Given the description of an element on the screen output the (x, y) to click on. 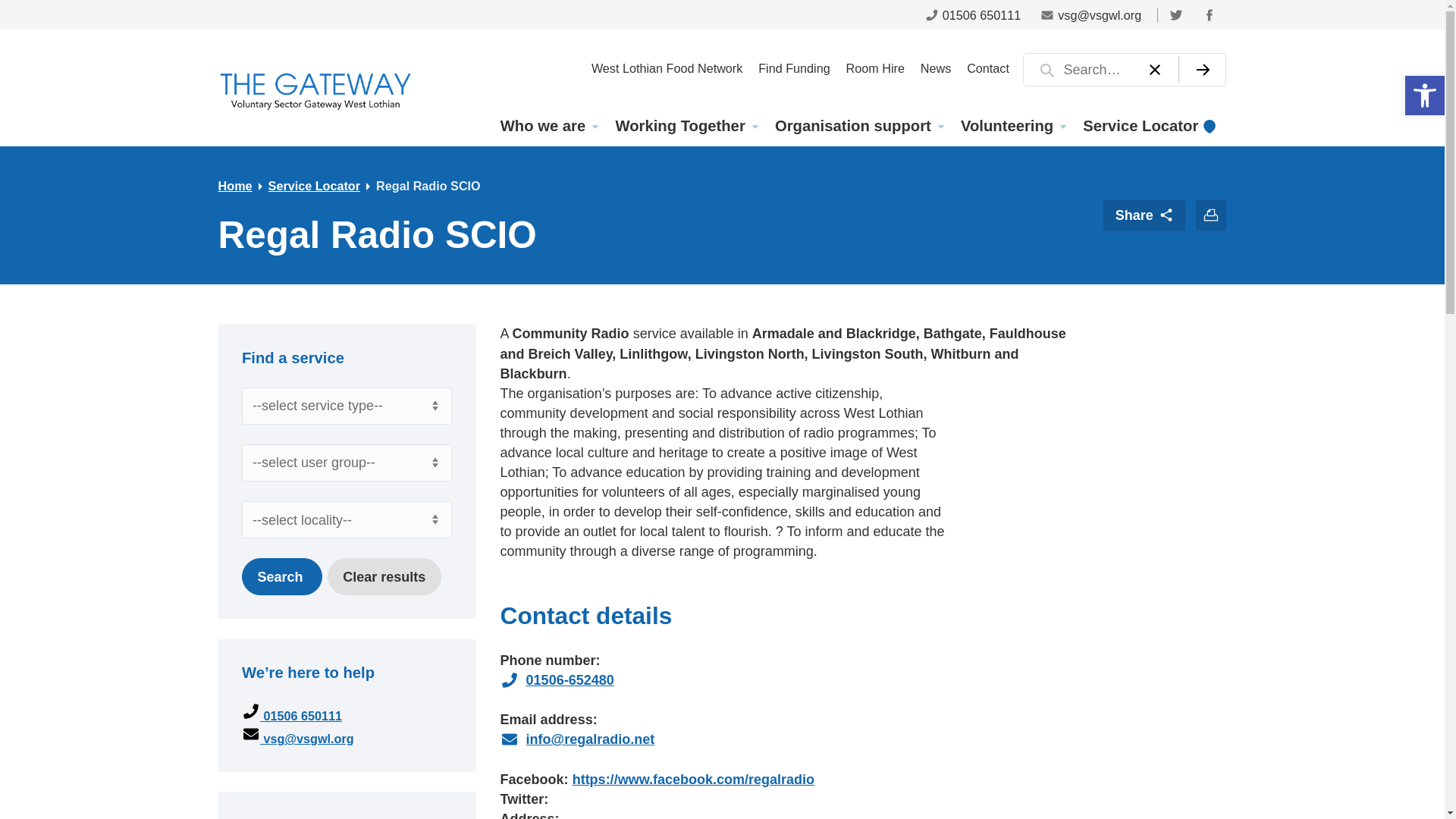
Find Funding (794, 67)
Twitter (1174, 14)
01506 650111 (972, 14)
Search for (1124, 69)
News (935, 67)
Who we are (547, 125)
Search  (281, 576)
Room Hire (875, 67)
Working Together (685, 125)
Clear results (384, 576)
West Lothian Food Network (666, 67)
Accessibility Tools (1424, 95)
Contact (988, 67)
Facebook (1208, 14)
